Given the description of an element on the screen output the (x, y) to click on. 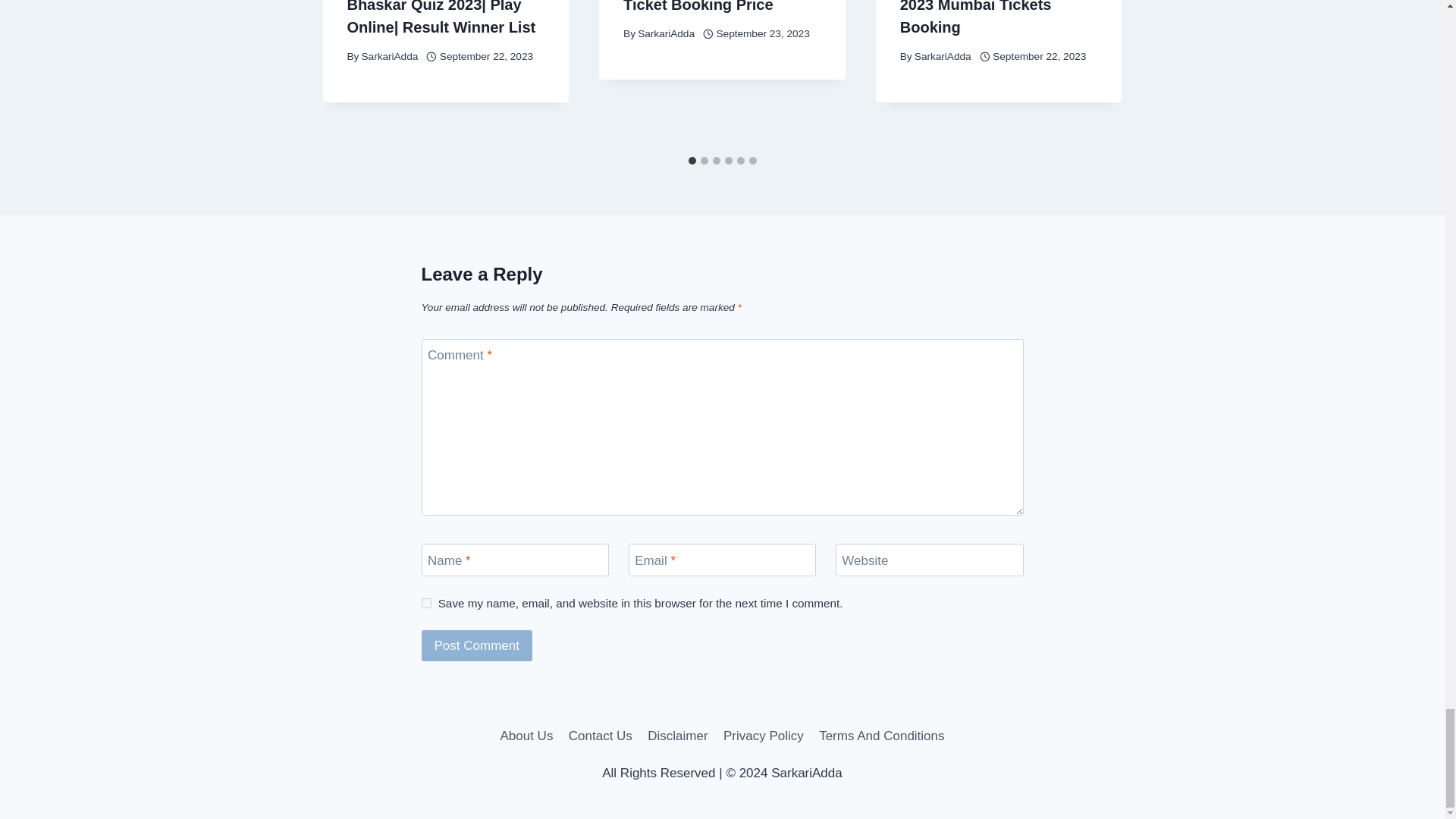
Post Comment (477, 644)
yes (426, 603)
